Given the description of an element on the screen output the (x, y) to click on. 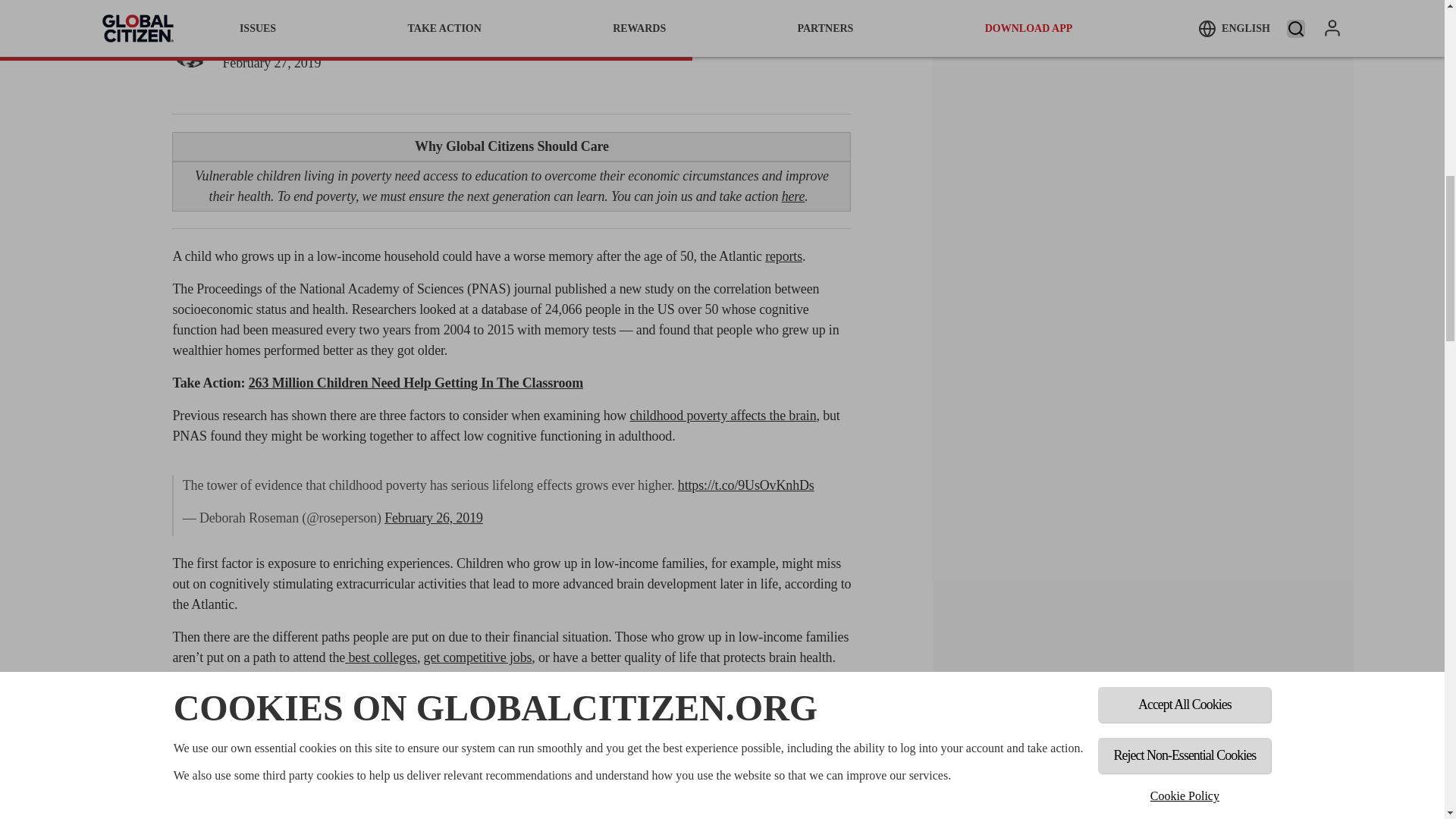
Pia Gralki (190, 50)
